Given the description of an element on the screen output the (x, y) to click on. 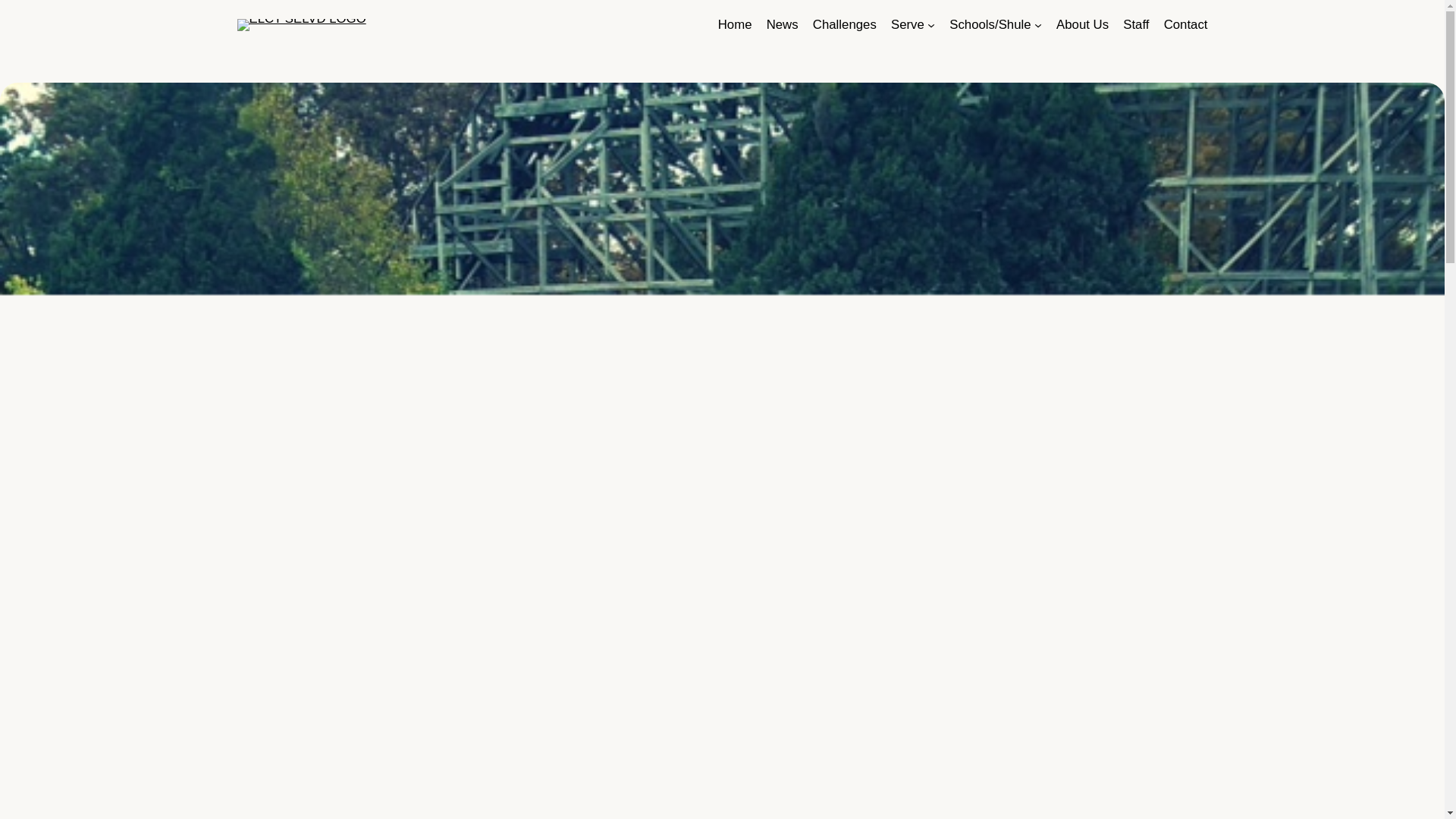
News (782, 25)
Home (734, 25)
Challenges (844, 25)
Staff (1135, 25)
Serve (907, 25)
About Us (1082, 25)
Contact (1185, 25)
